Given the description of an element on the screen output the (x, y) to click on. 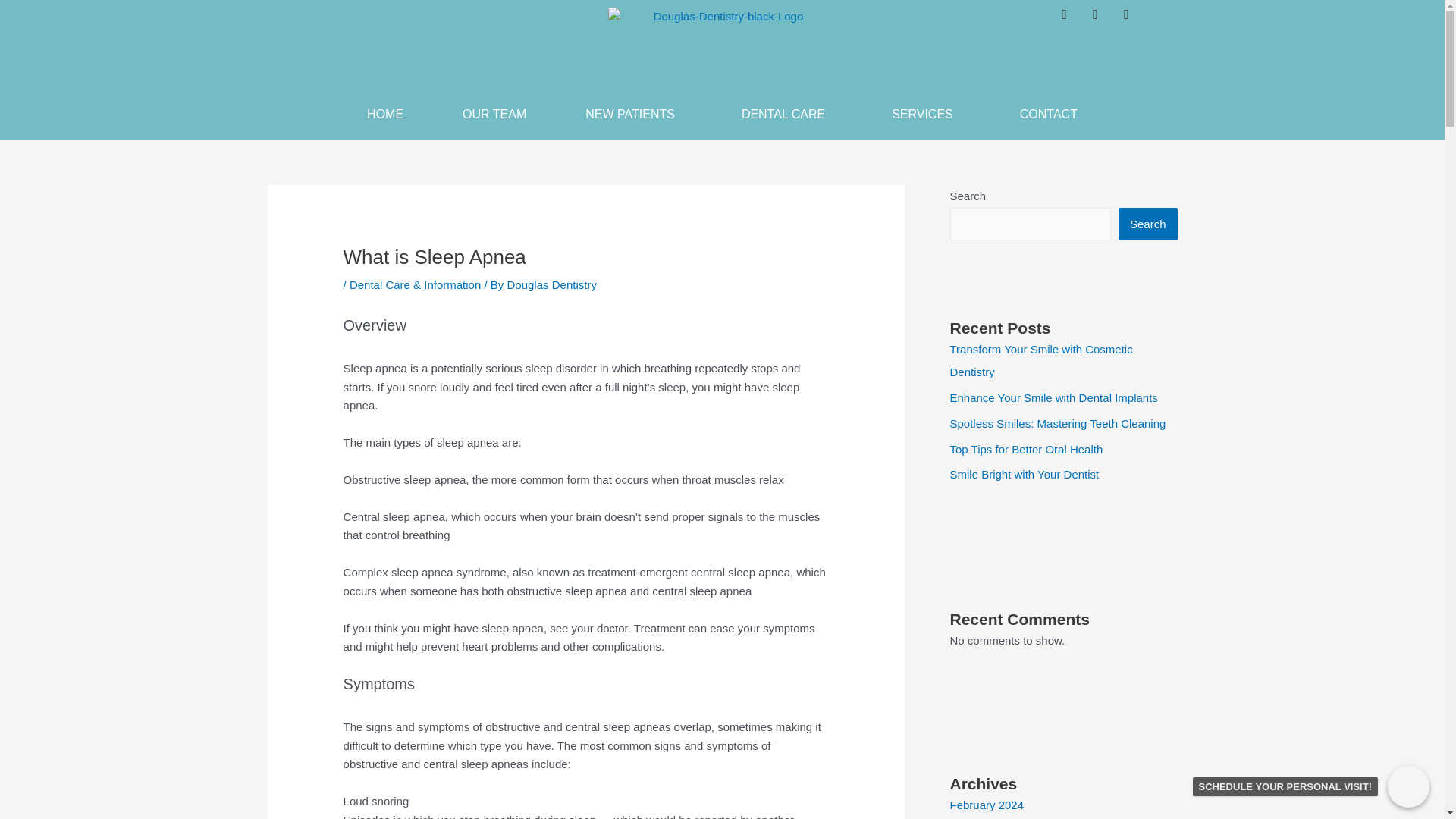
Instagram (1070, 21)
CONTACT (1048, 114)
SERVICES (926, 114)
Douglas Dentistry (550, 284)
OUR TEAM (493, 114)
View all posts by Douglas Dentistry (550, 284)
Enhance Your Smile with Dental Implants (1053, 397)
HOME (384, 114)
Twitter (1133, 21)
Transform Your Smile with Cosmetic Dentistry (1040, 360)
Facebook (1101, 21)
NEW PATIENTS (633, 114)
DENTAL CARE (787, 114)
Search (1147, 224)
